Given the description of an element on the screen output the (x, y) to click on. 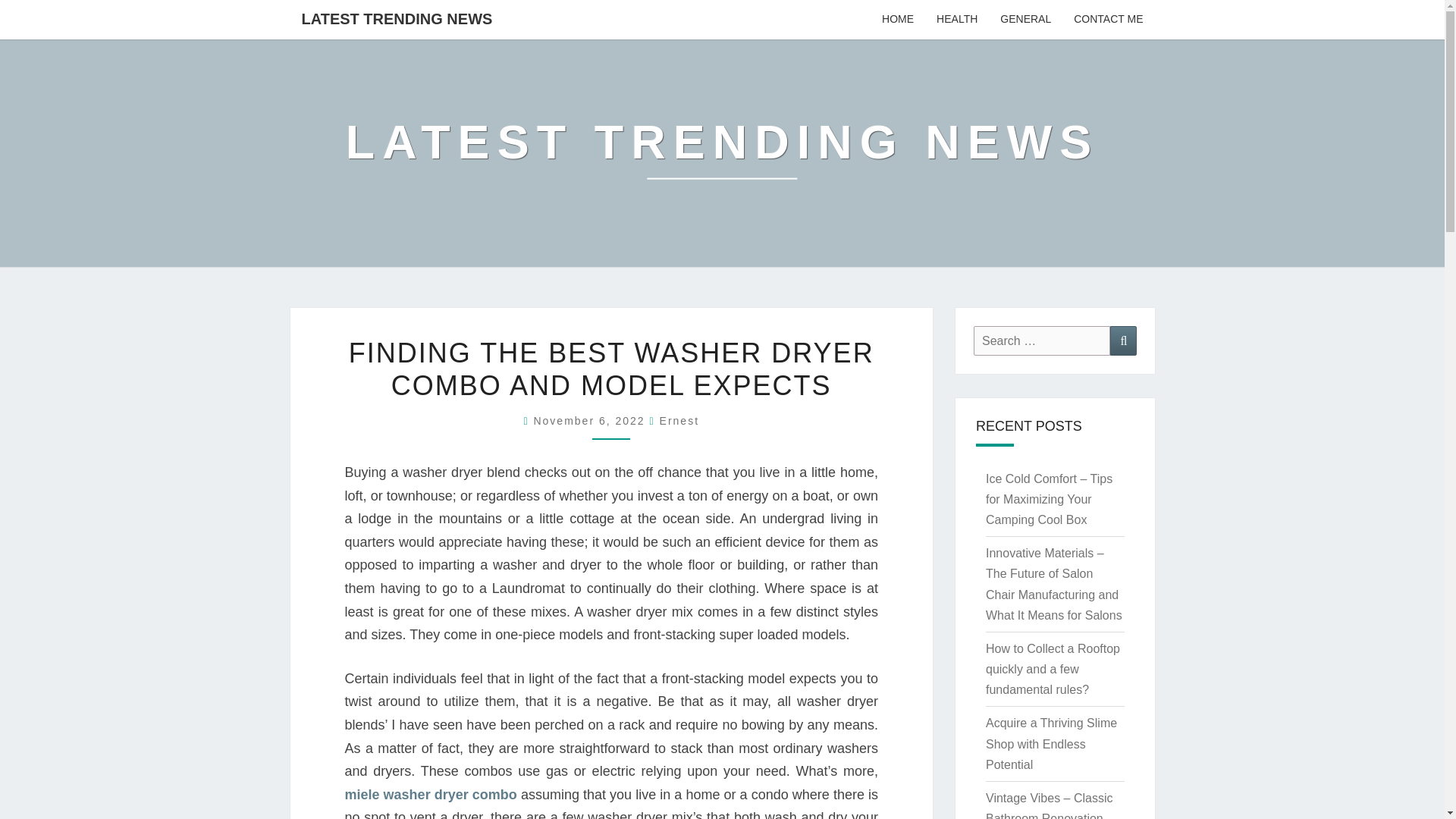
Acquire a Thriving Slime Shop with Endless Potential (1050, 743)
GENERAL (1025, 19)
CONTACT ME (1108, 19)
Search for: (1041, 340)
11:28 am (590, 420)
Search (1123, 340)
miele washer dryer combo (429, 794)
HOME (897, 19)
HEALTH (956, 19)
Latest Trending News (722, 152)
Ernest (678, 420)
LATEST TRENDING NEWS (722, 152)
November 6, 2022 (590, 420)
View all posts by Ernest (678, 420)
